Given the description of an element on the screen output the (x, y) to click on. 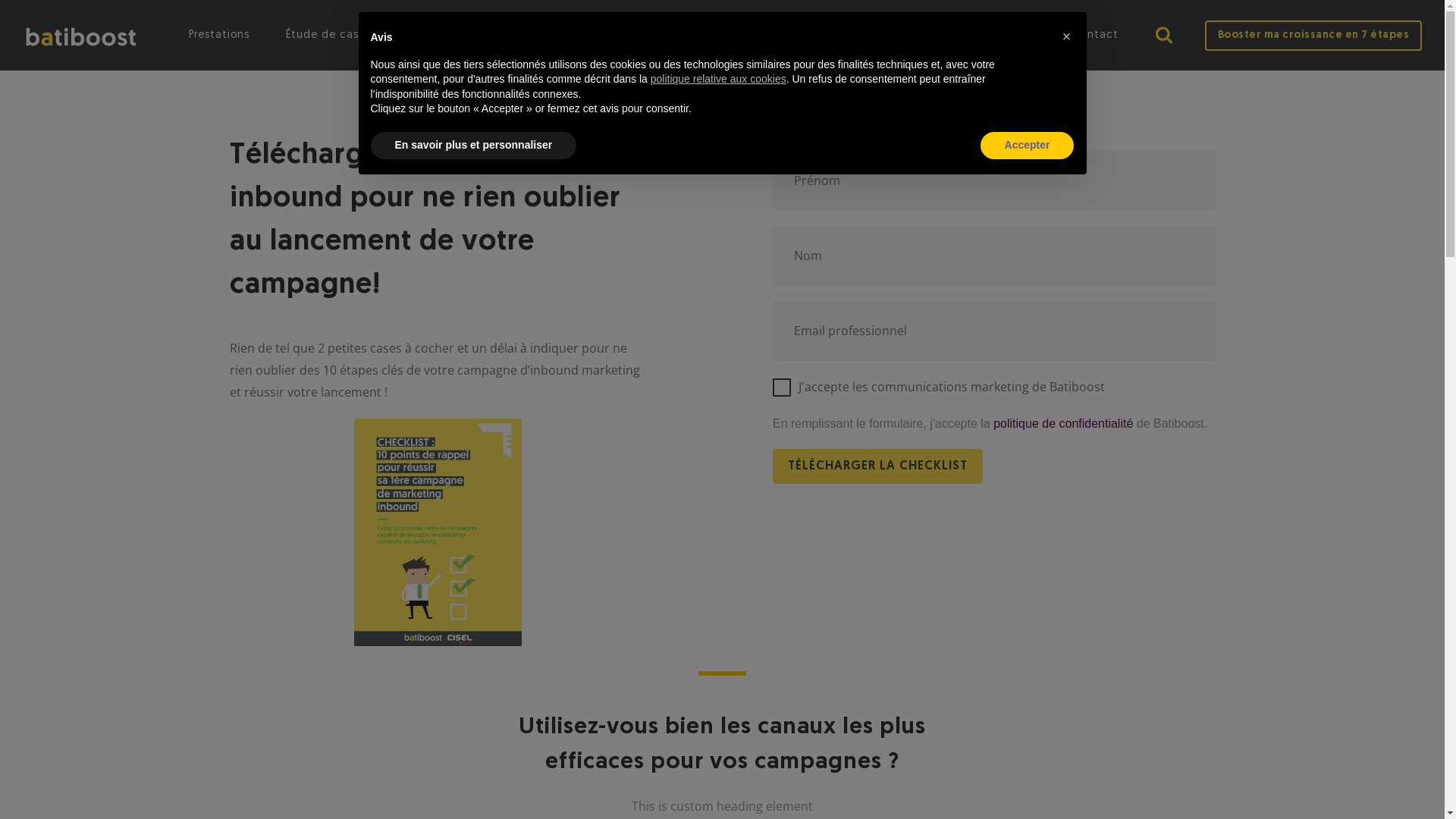
Ressources Element type: text (424, 35)
Accepter Element type: text (1027, 145)
En savoir plus et personnaliser Element type: text (473, 145)
Blog Element type: text (582, 35)
Chatbot Element type: hover (1383, 757)
Prestations Element type: text (218, 35)
politique relative aux cookies Element type: text (718, 78)
Agence Element type: text (512, 35)
Contact Element type: text (1094, 35)
